Given the description of an element on the screen output the (x, y) to click on. 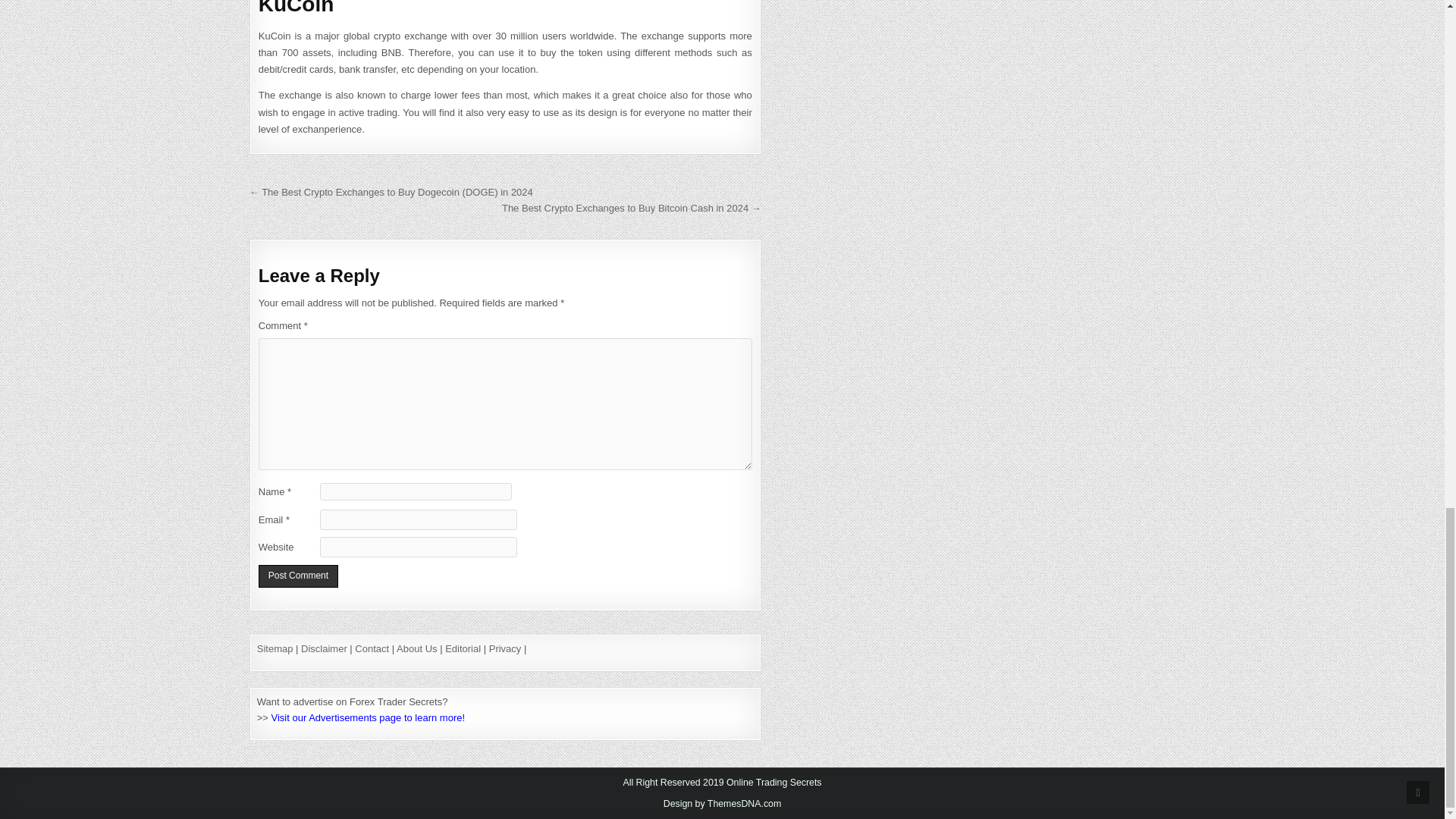
Sitemap (275, 648)
Disclaimer (324, 648)
Privacy (505, 648)
Post Comment (298, 576)
Visit our Advertisements page to learn more! (367, 717)
Editorial (462, 648)
Post Comment (298, 576)
Contact (371, 648)
About Us (416, 648)
